Given the description of an element on the screen output the (x, y) to click on. 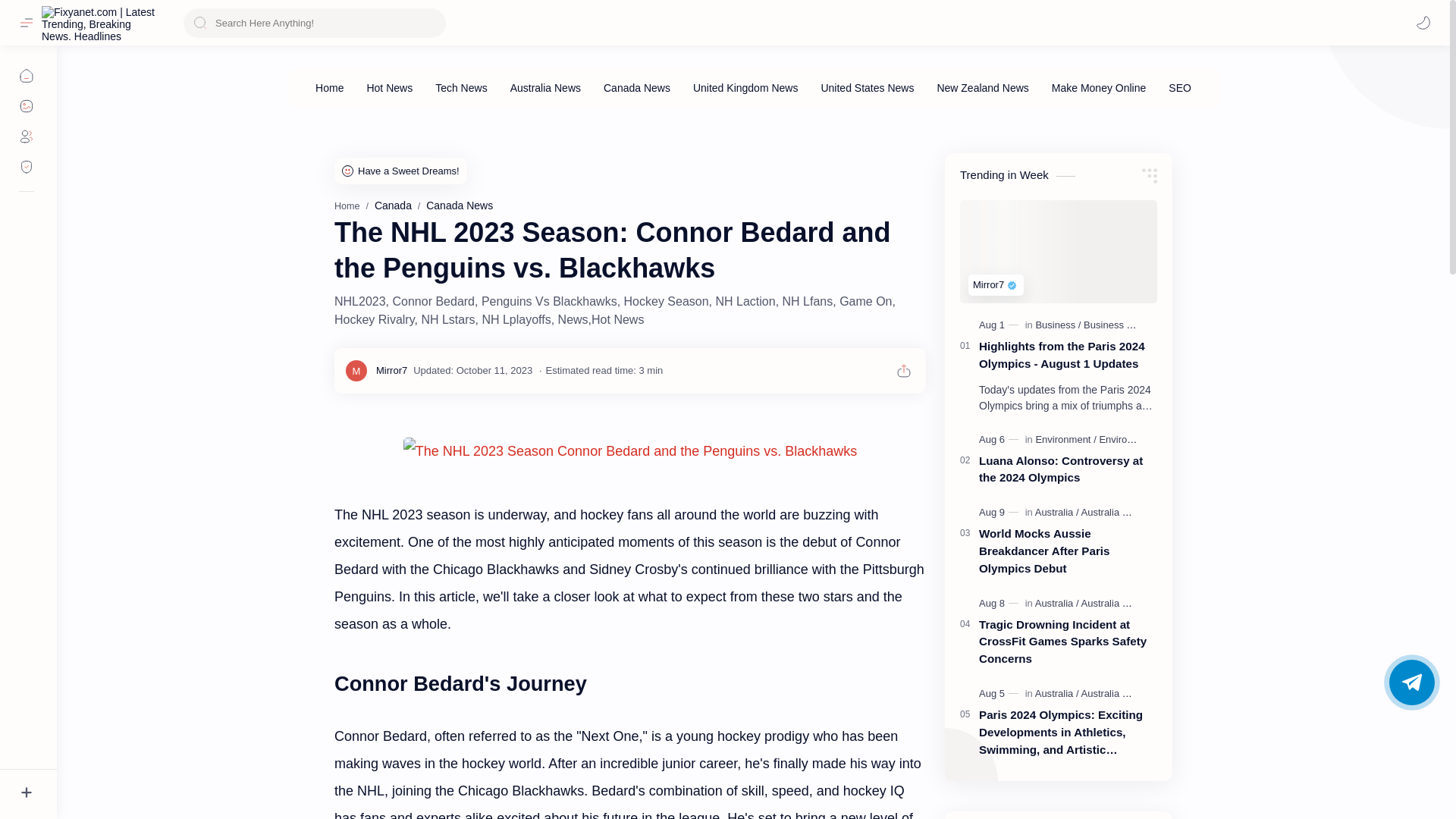
Published: August 8, 2024 (1000, 603)
Published: August 1, 2024 (1000, 325)
Canada (393, 205)
Home (346, 205)
Published: August 6, 2024 (1000, 439)
Canada News (459, 205)
Published: August 9, 2024 (1000, 512)
Last updated: October 11, 2023 (472, 369)
